Given the description of an element on the screen output the (x, y) to click on. 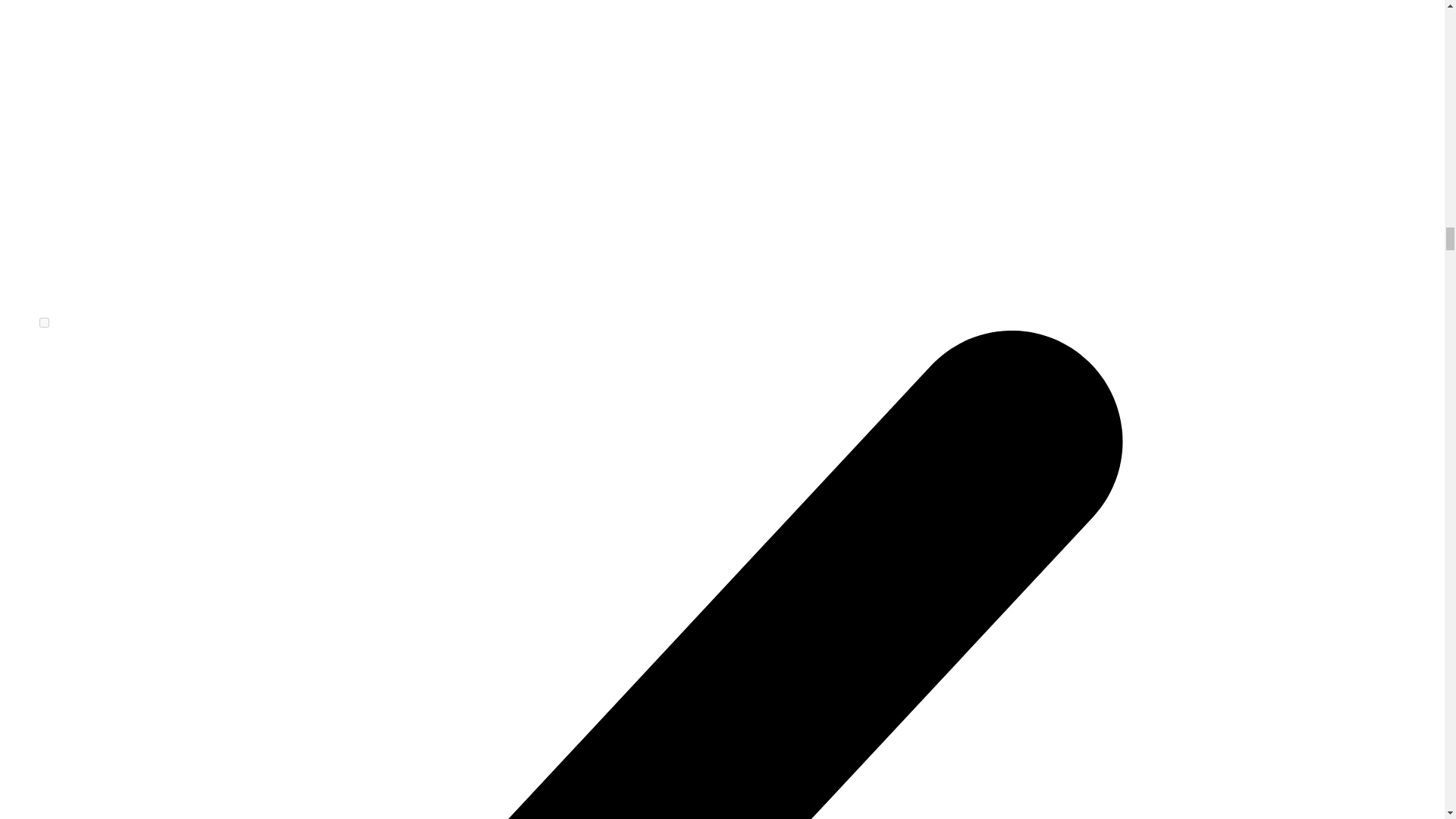
on (44, 322)
